Given the description of an element on the screen output the (x, y) to click on. 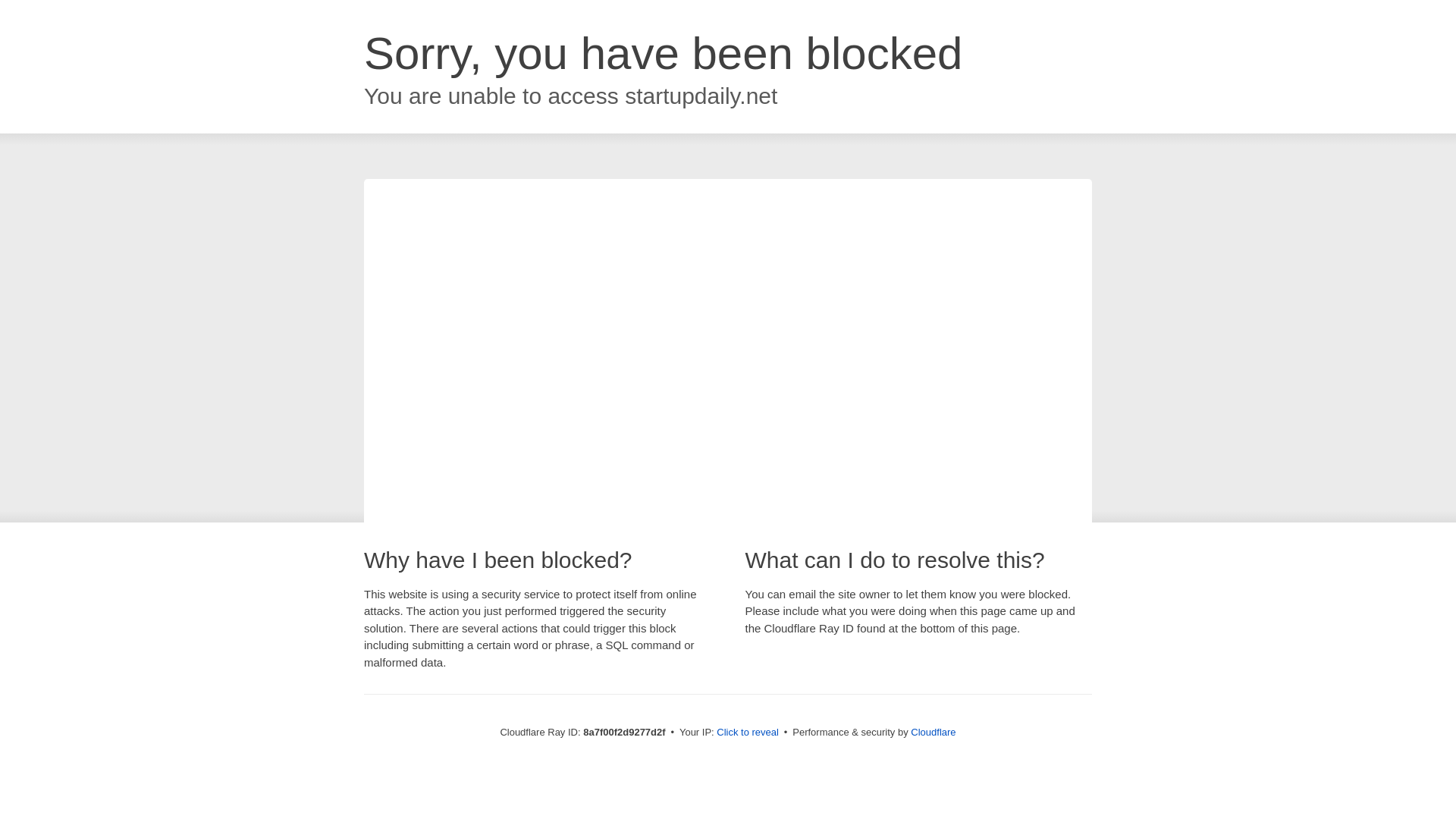
Click to reveal (747, 732)
Cloudflare (933, 731)
